Given the description of an element on the screen output the (x, y) to click on. 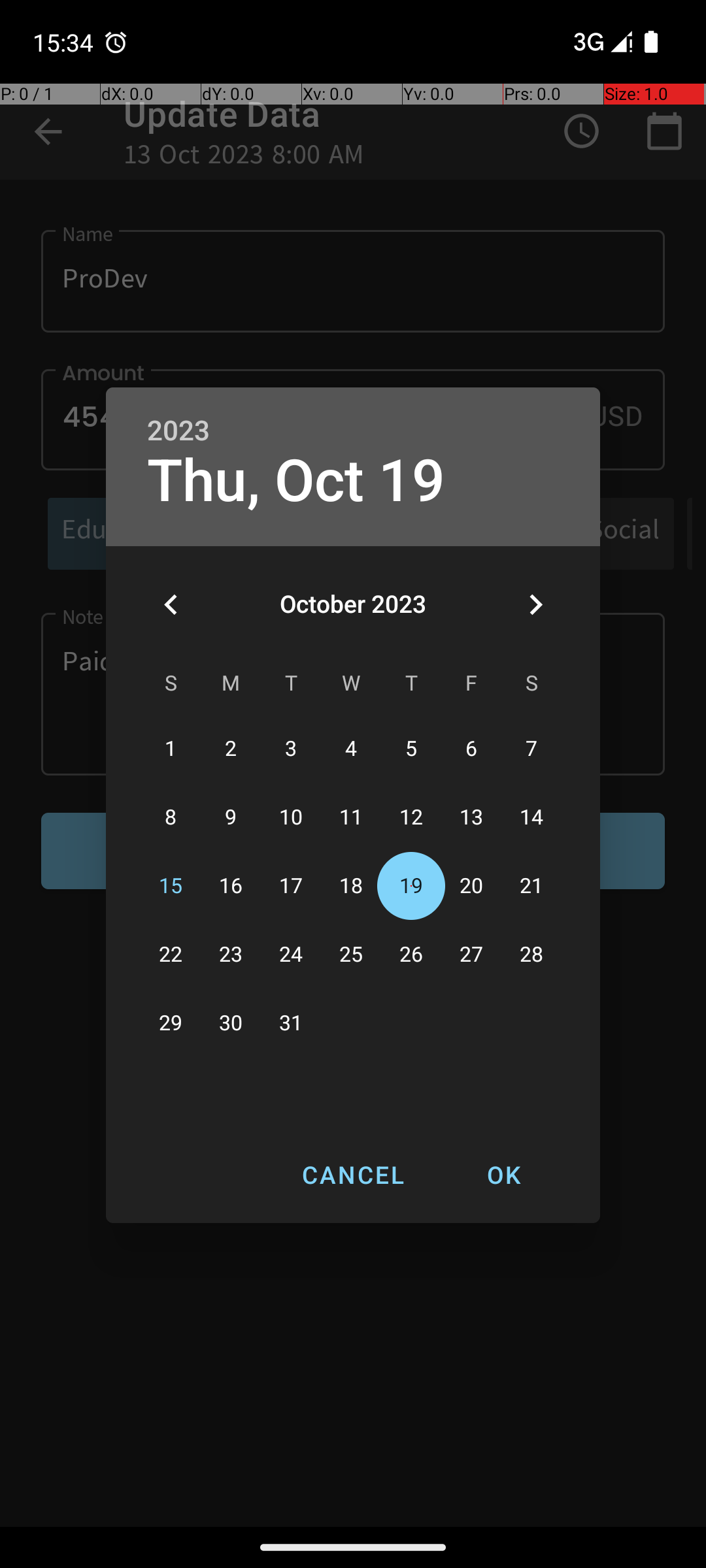
Thu, Oct 19 Element type: android.widget.TextView (296, 480)
